Given the description of an element on the screen output the (x, y) to click on. 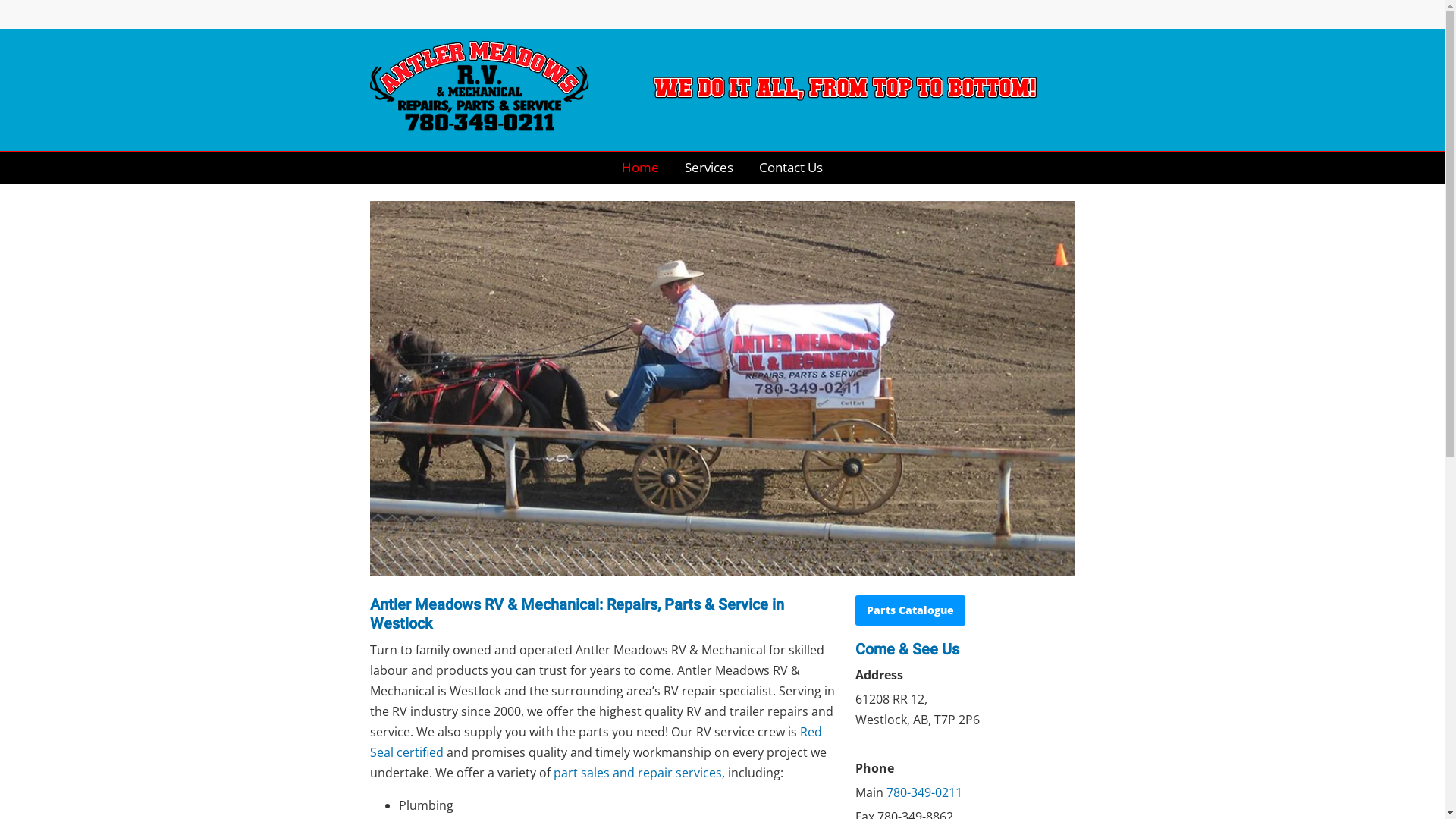
Services Element type: text (708, 167)
Embedded Content Element type: hover (988, 15)
Embedded Content Element type: hover (1069, 15)
Home Element type: text (639, 167)
780-349-0211 Element type: text (923, 794)
Contact Us Element type: text (790, 167)
Parts Catalogue Element type: text (910, 610)
Red Seal certified Element type: text (596, 743)
part sales and repair services Element type: text (637, 774)
